Given the description of an element on the screen output the (x, y) to click on. 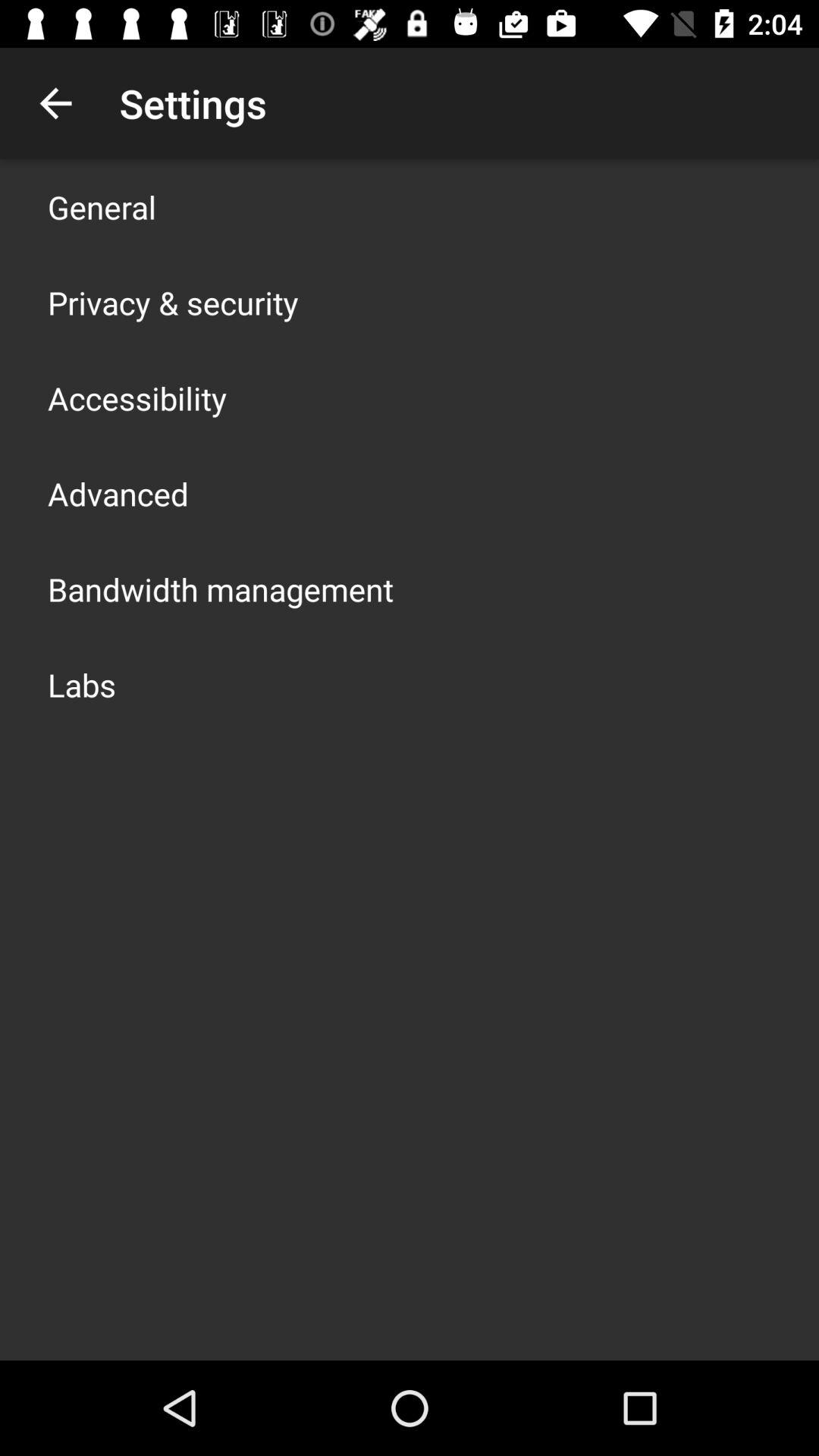
open the app above privacy & security (101, 206)
